Given the description of an element on the screen output the (x, y) to click on. 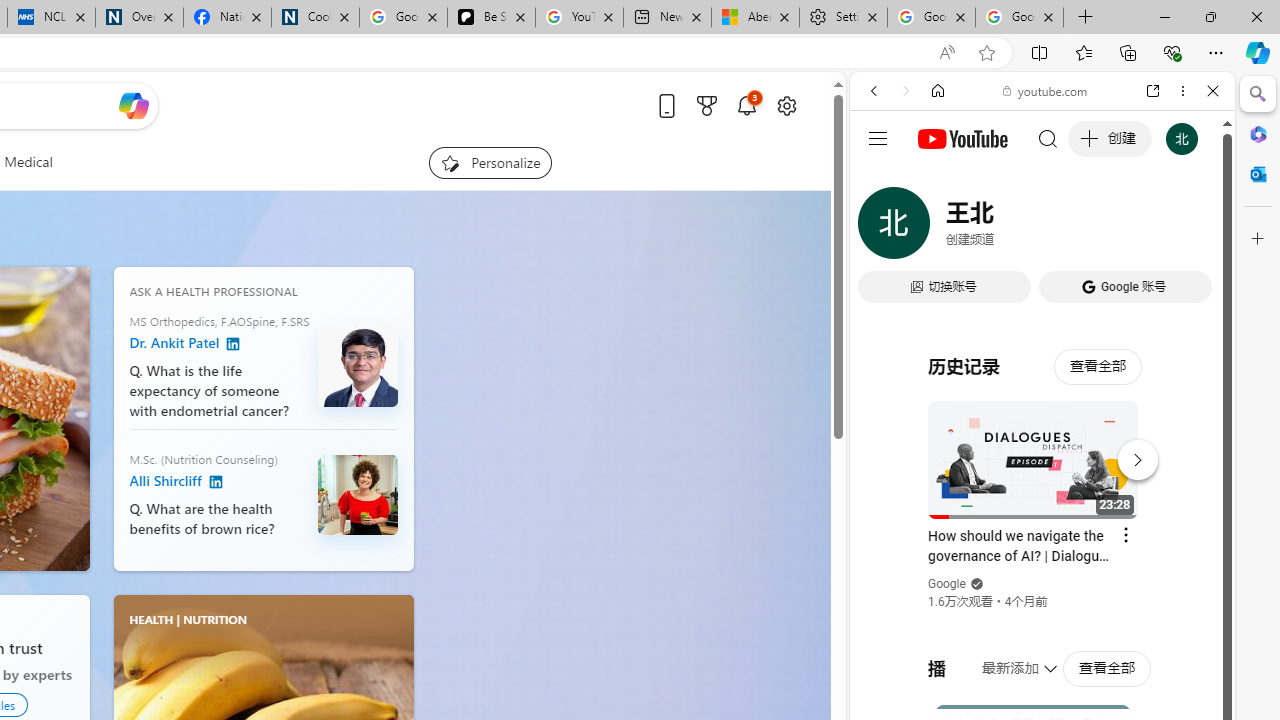
Alli Shircliff (215, 483)
SEARCH TOOLS (1093, 228)
Cookies (315, 17)
Music (1042, 543)
Close Outlook pane (1258, 174)
